Given the description of an element on the screen output the (x, y) to click on. 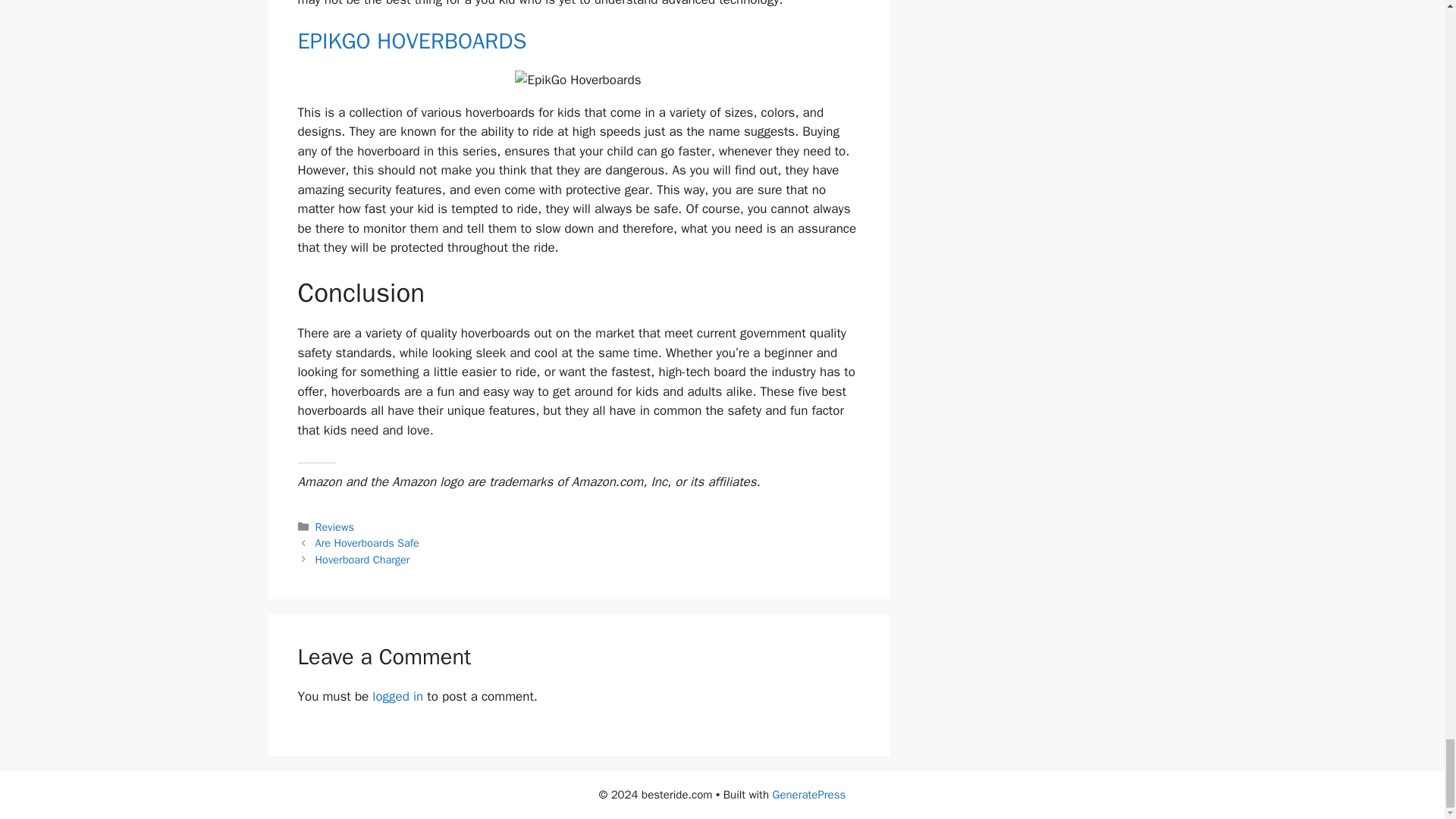
Previous (367, 542)
Next (362, 559)
